Given the description of an element on the screen output the (x, y) to click on. 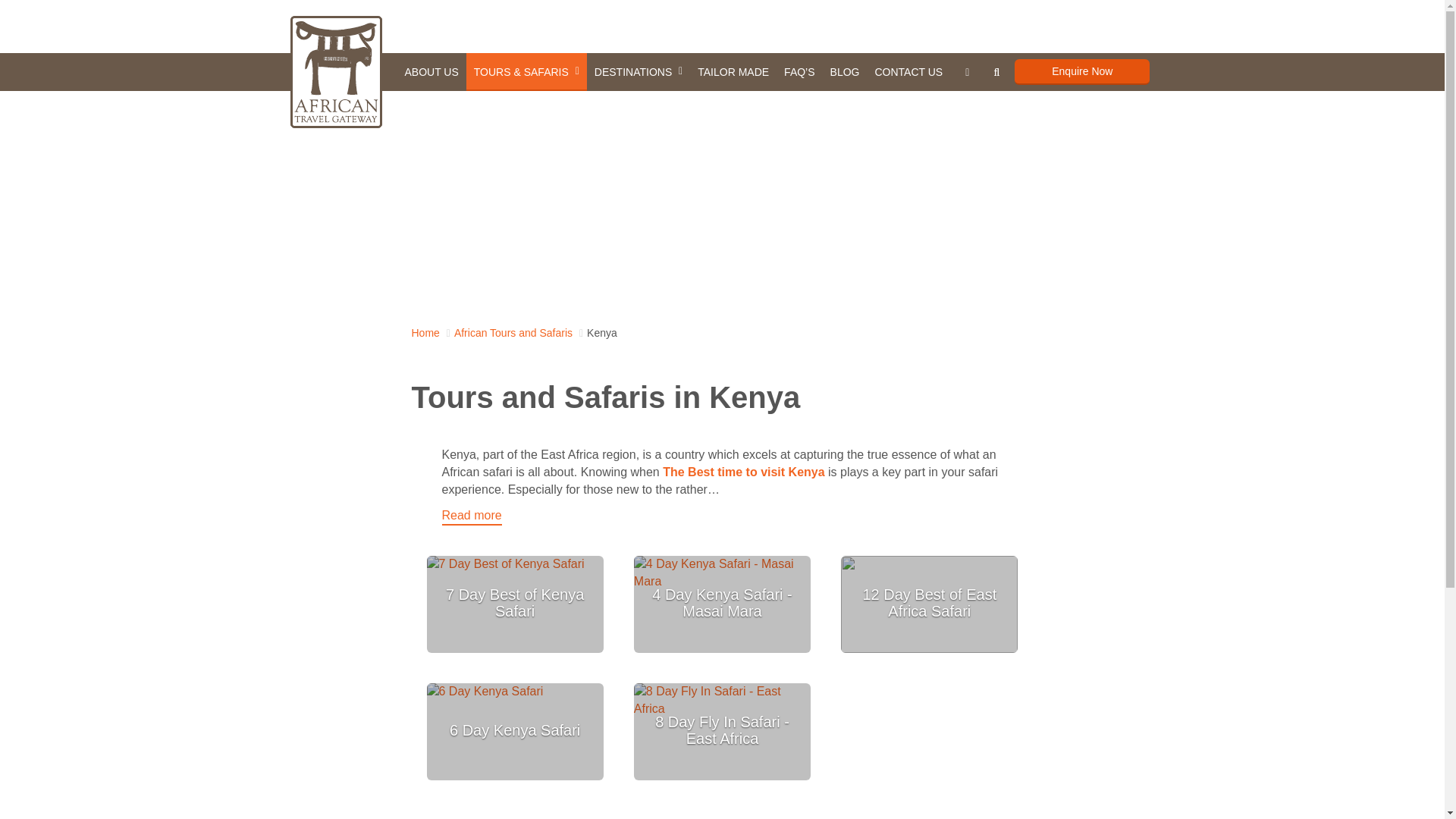
TAILOR MADE (733, 71)
8 Day Fly In Safari - East Africa (722, 729)
African Travel Gateway (335, 71)
Enquire Now (1082, 71)
12 Day Best of East Africa Safari (928, 602)
CONTACT US (908, 71)
4 Day Kenya Safari - Masai Mara (722, 602)
Home (424, 332)
6 Day Kenya Safari (514, 729)
7 Day Best of Kenya Safari (514, 602)
